Given the description of an element on the screen output the (x, y) to click on. 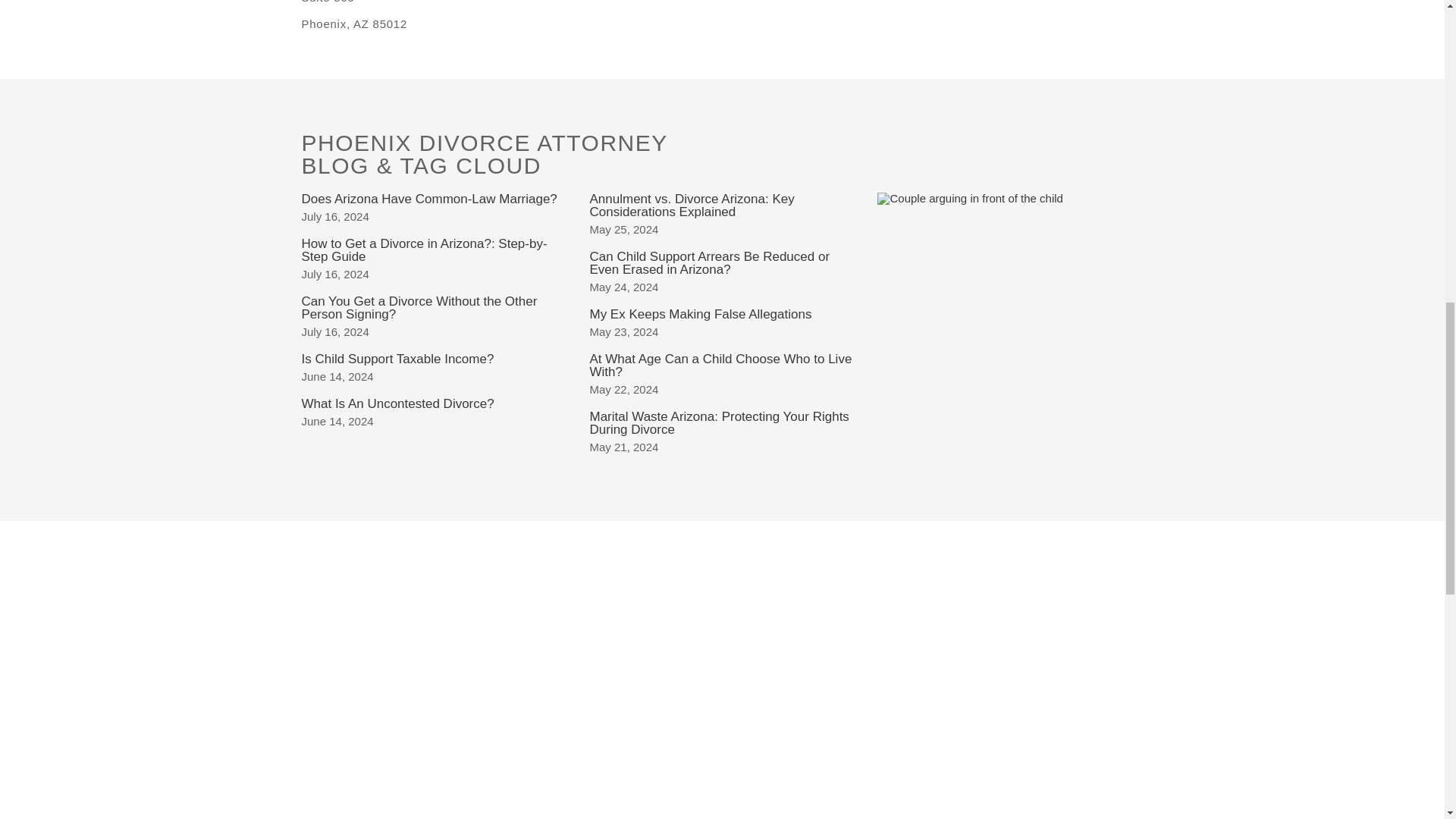
Read More (419, 307)
Read More (398, 402)
Read More (398, 359)
Read More (429, 197)
Read More (424, 249)
